Given the description of an element on the screen output the (x, y) to click on. 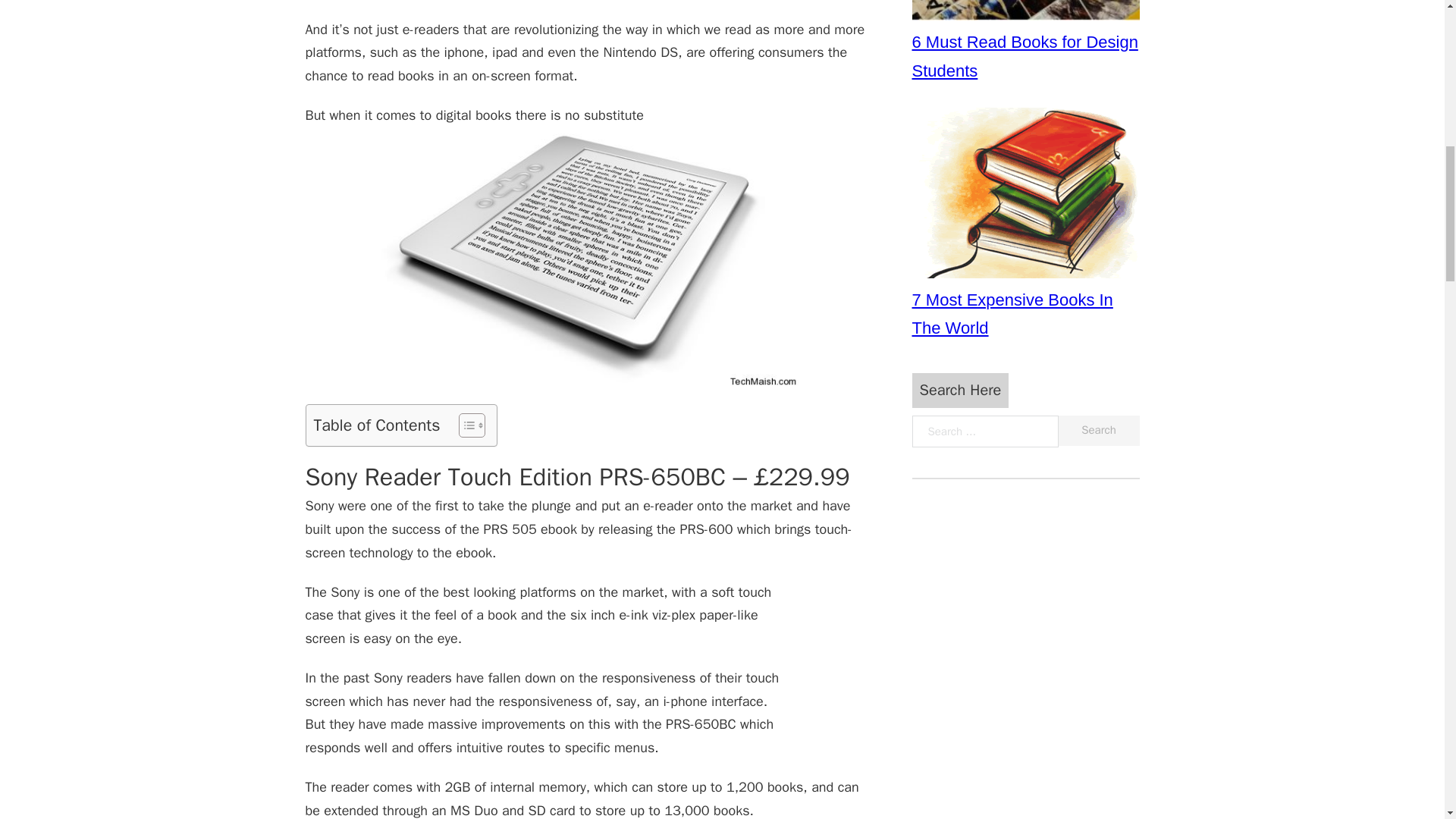
e reader (588, 260)
